Given the description of an element on the screen output the (x, y) to click on. 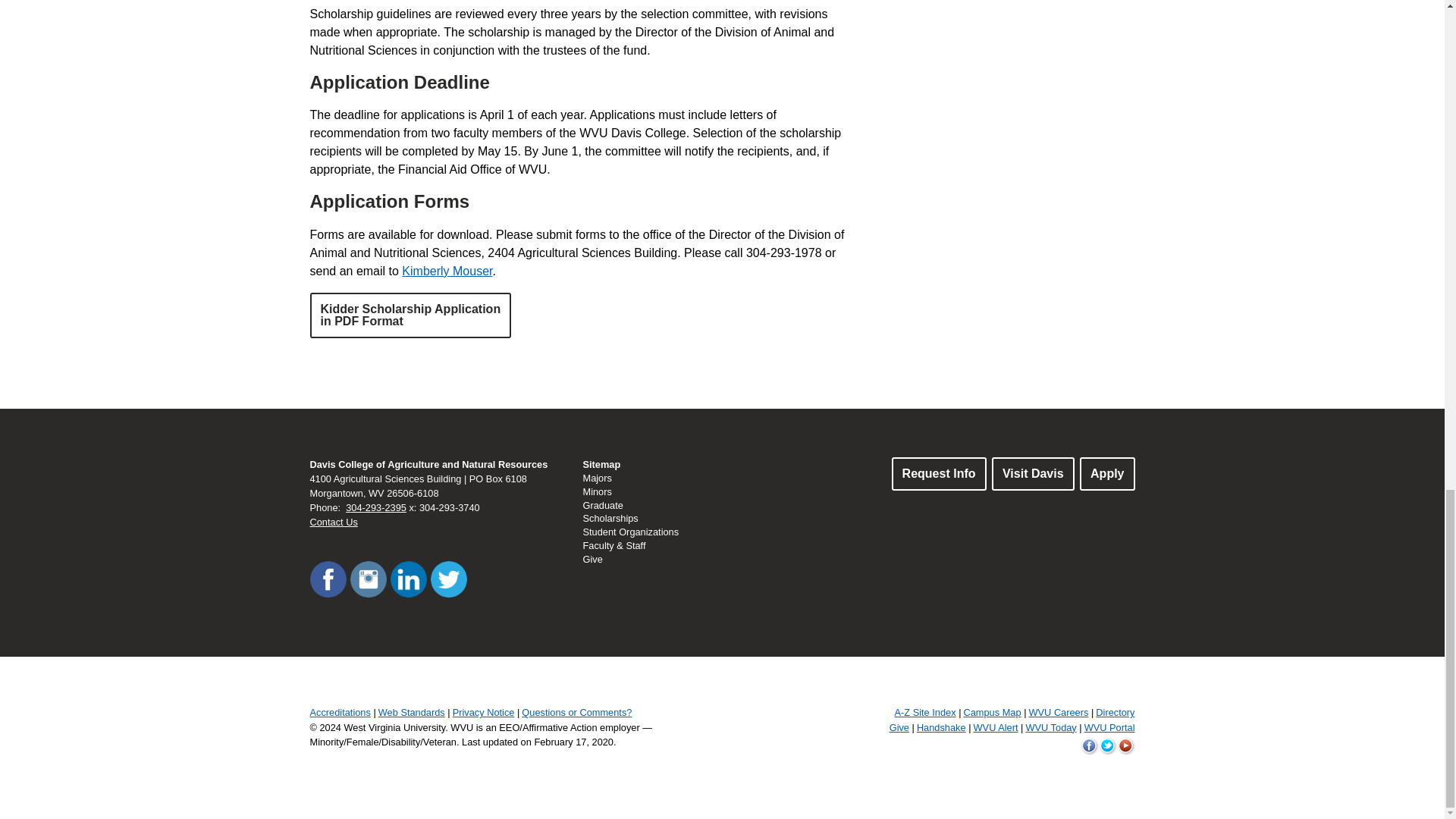
Visit Davis (1032, 473)
304-293-2395 (376, 507)
Minors (596, 491)
Kimberly Mouser (446, 270)
Privacy Notice (483, 712)
Accreditations (338, 712)
Questions or Comments? (576, 712)
Request Info (409, 315)
Student Organizations (939, 473)
